Given the description of an element on the screen output the (x, y) to click on. 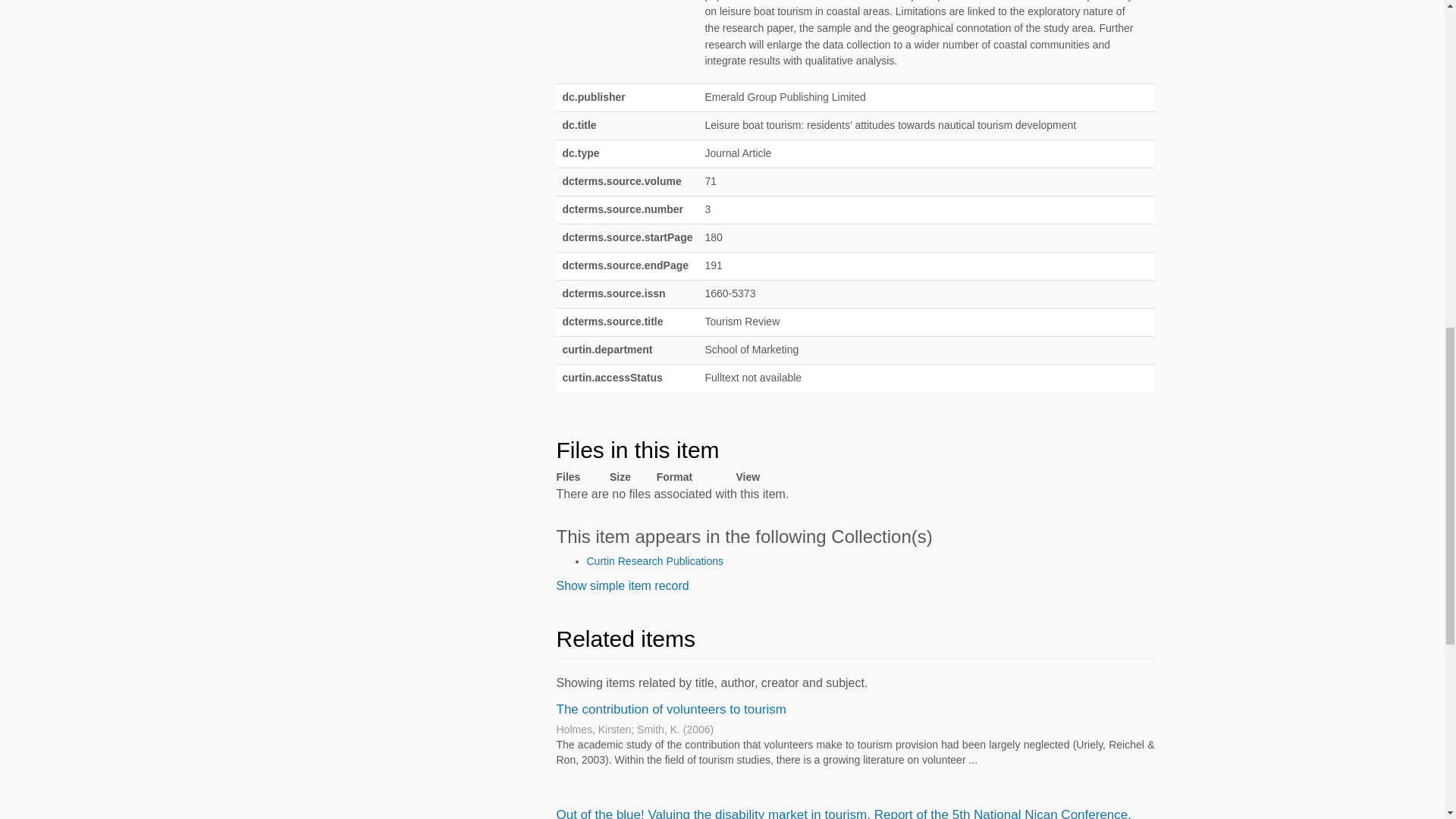
Show simple item record (622, 585)
Curtin Research Publications (654, 561)
The contribution of volunteers to tourism (671, 708)
